Given the description of an element on the screen output the (x, y) to click on. 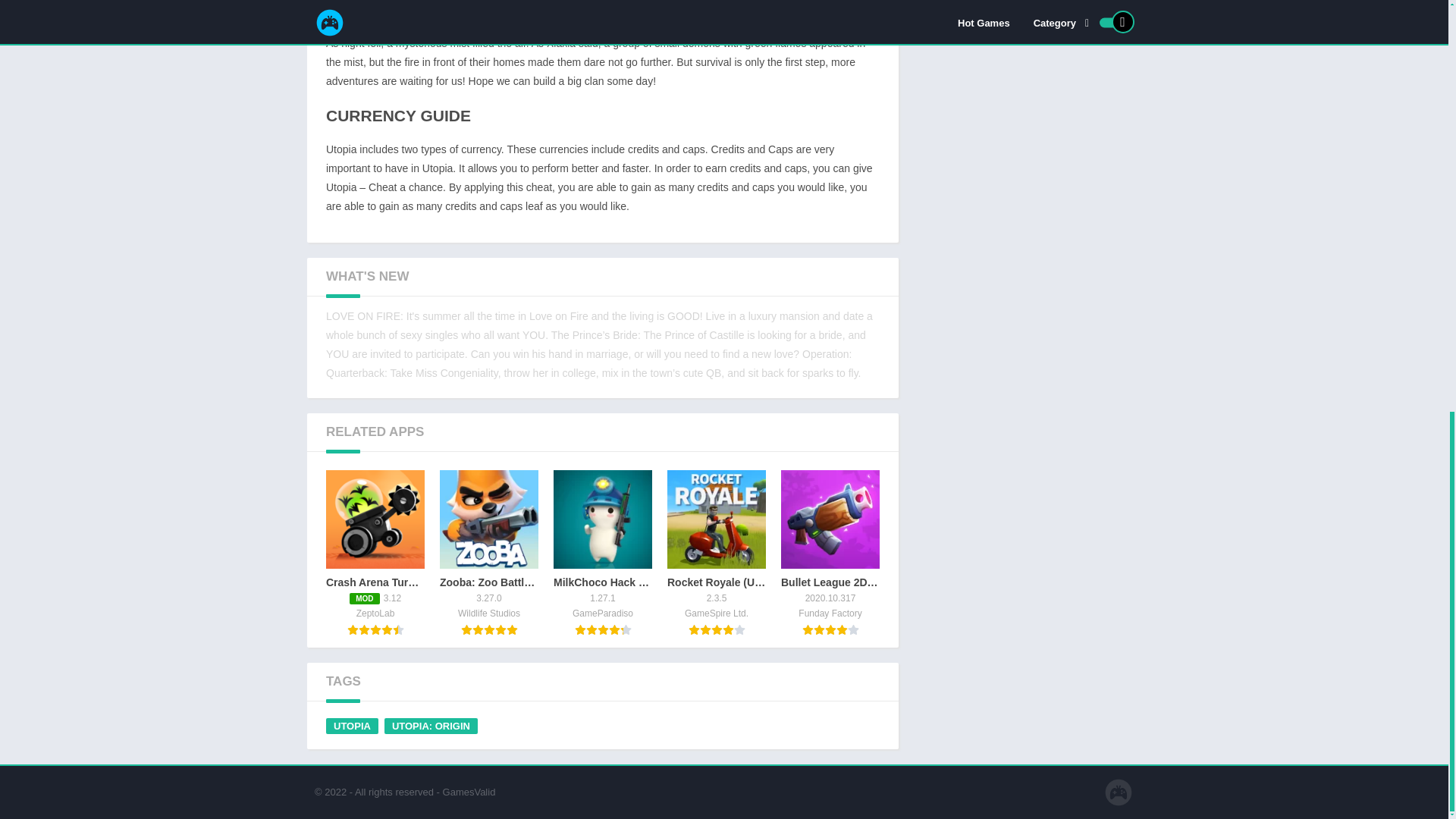
UTOPIA (352, 725)
